Given the description of an element on the screen output the (x, y) to click on. 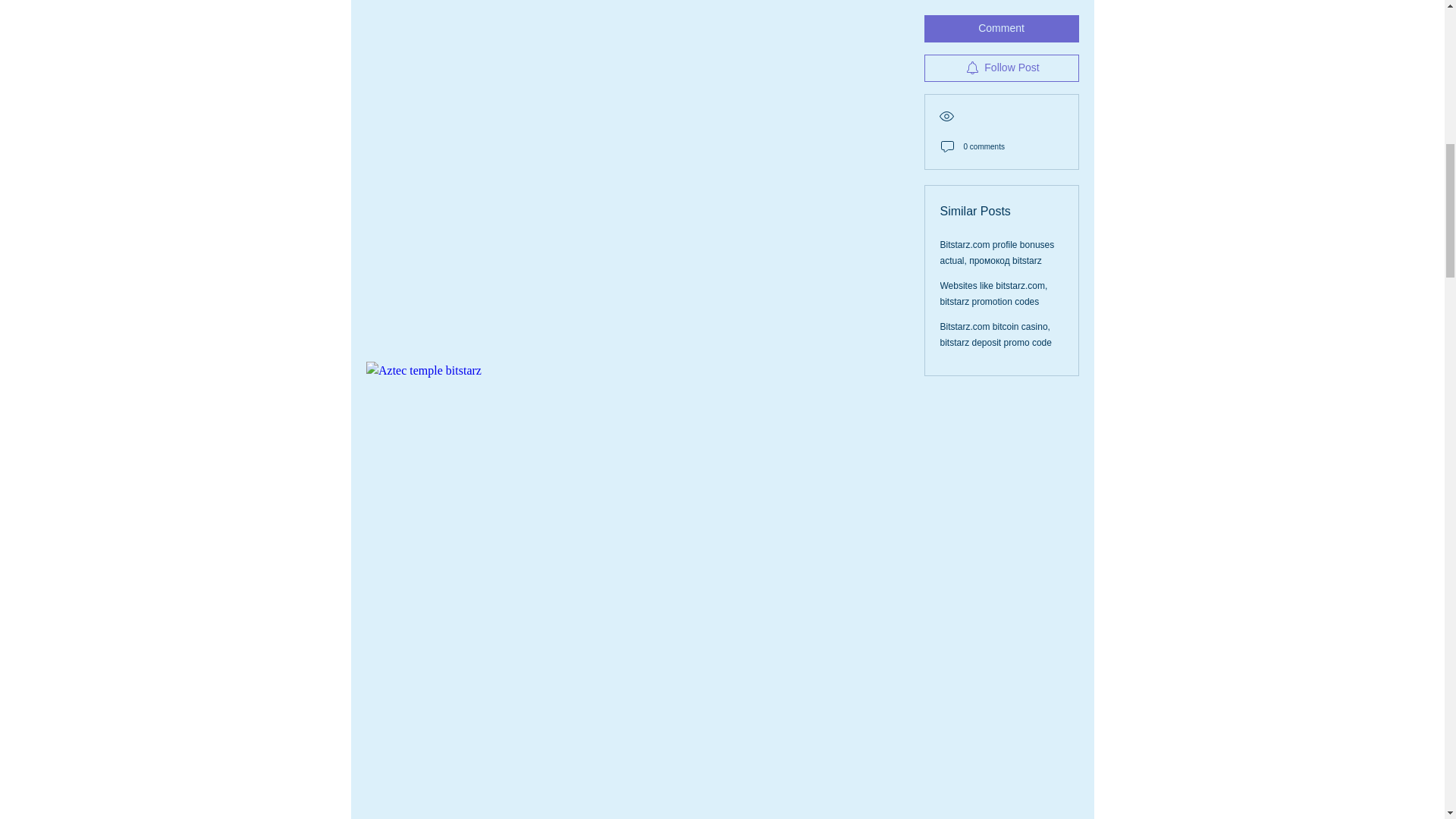
Bitstarz.com bitcoin casino, bitstarz deposit promo code (995, 11)
